Given the description of an element on the screen output the (x, y) to click on. 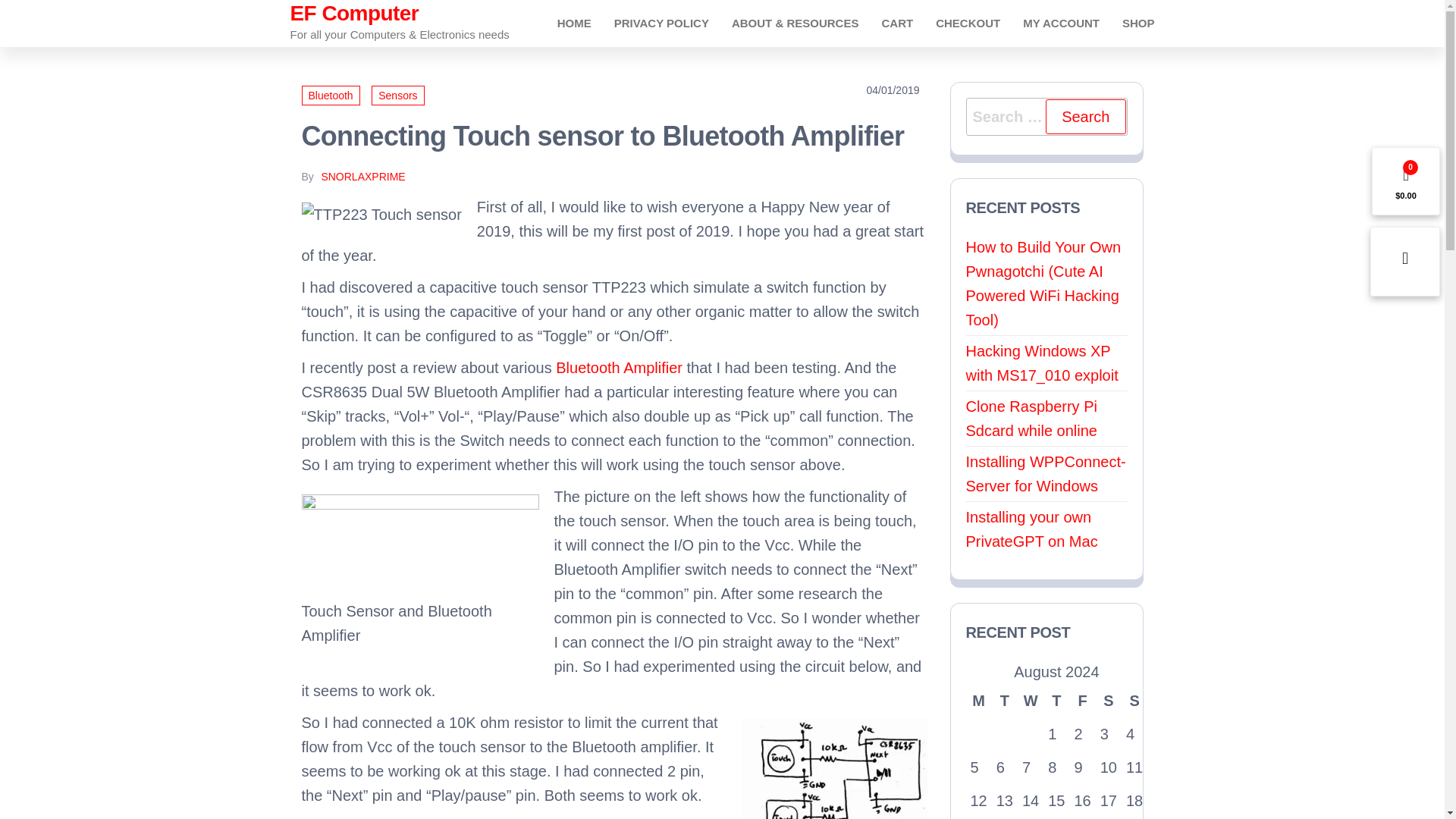
Checkout (967, 22)
My Account (1060, 22)
CART (896, 22)
Home (574, 22)
Bluetooth (330, 95)
Search (1085, 116)
Search (1085, 116)
PRIVACY POLICY (661, 22)
SNORLAXPRIME (362, 176)
SHOP (1138, 22)
Installing your own PrivateGPT on Mac (1031, 528)
Bluetooth Amplifier (619, 367)
Shop (1138, 22)
HOME (574, 22)
Cart (896, 22)
